Given the description of an element on the screen output the (x, y) to click on. 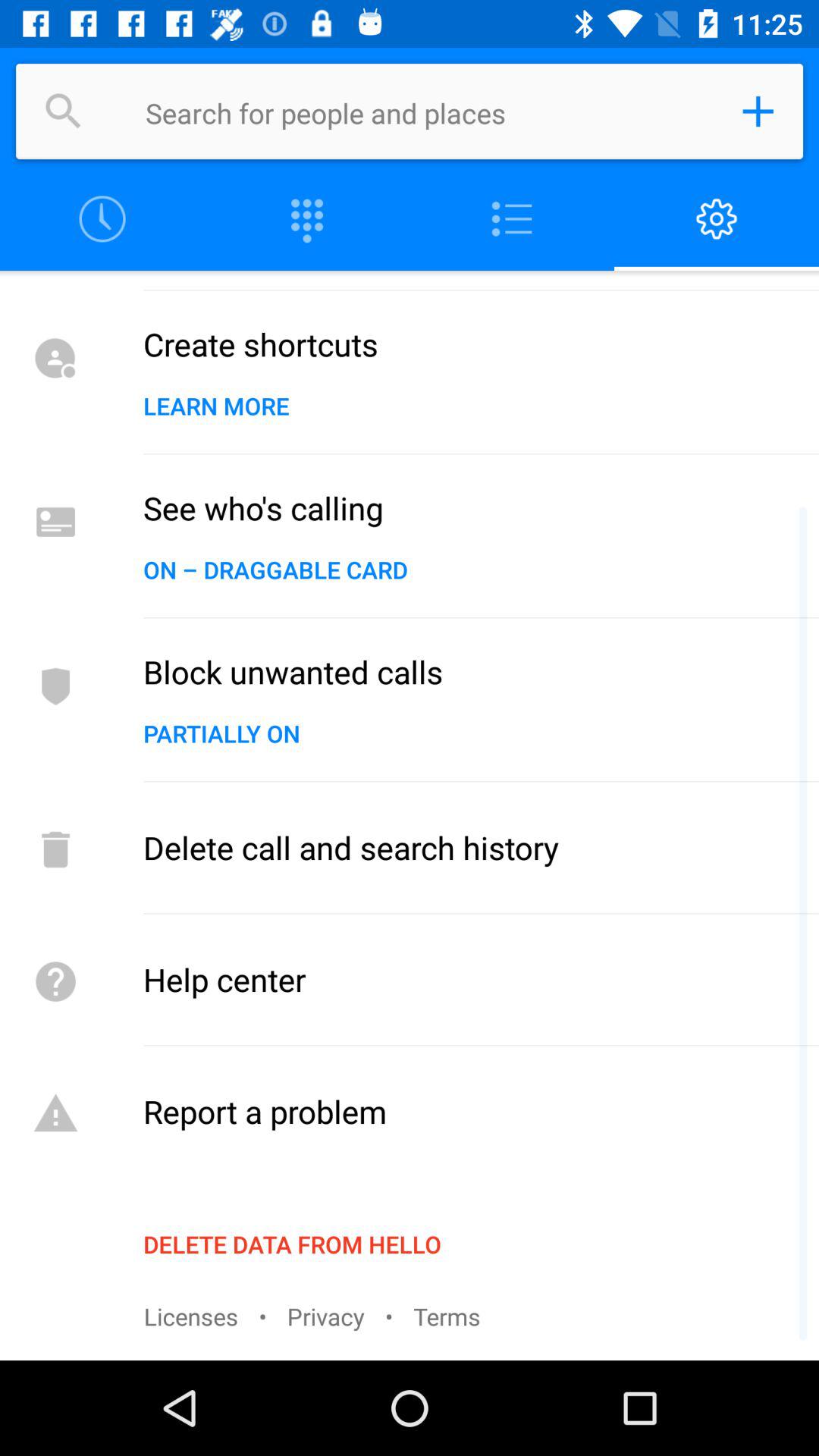
fix the time schedule (102, 219)
